Given the description of an element on the screen output the (x, y) to click on. 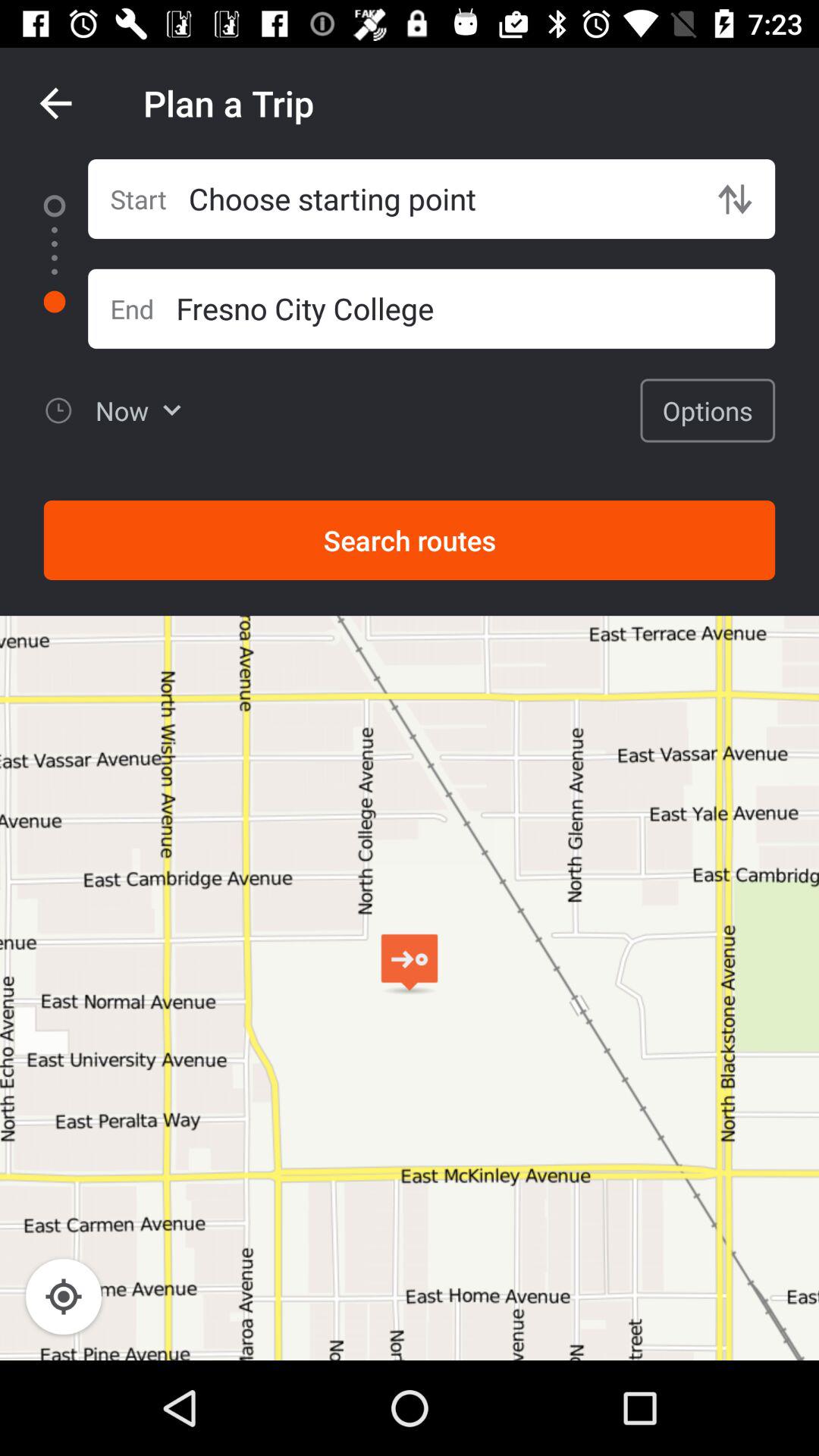
open the item to the right of the start icon (441, 198)
